Given the description of an element on the screen output the (x, y) to click on. 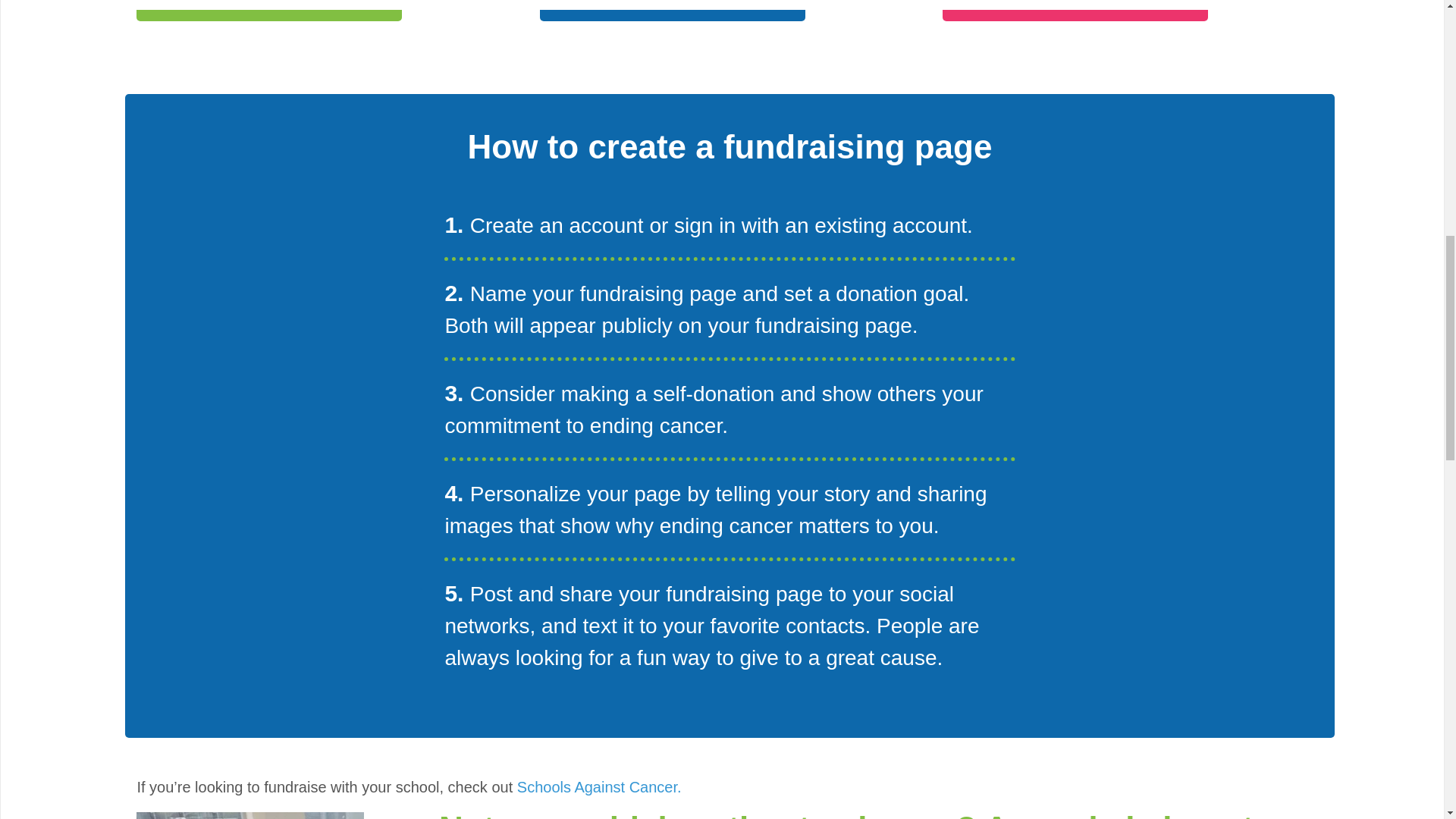
Schools Against Cancer. (598, 786)
Start here! (600, 2)
Start here! (196, 2)
Start here! (1003, 2)
